Given the description of an element on the screen output the (x, y) to click on. 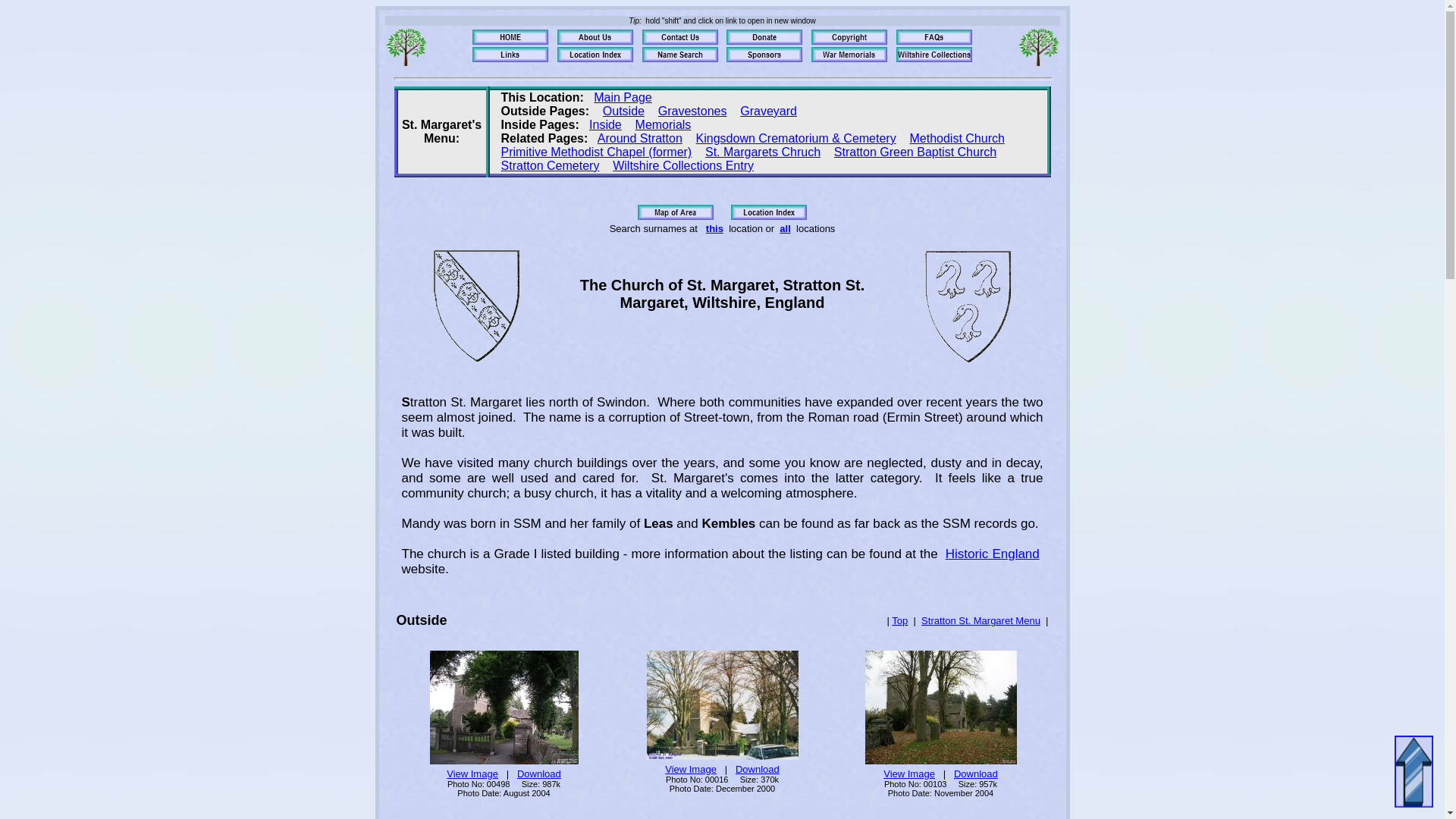
Outside (623, 110)
Search names for all locations (679, 54)
all (784, 228)
Go to page for Gravestones (692, 110)
Thank you to our sponsors (764, 54)
Go to page for Outside (623, 110)
Main index of all locations photographed (595, 54)
Inside (605, 124)
this (714, 228)
Wiltshire Collections Entry (683, 164)
Information about us for nosey people! (595, 37)
Go to page for Graveyard (767, 110)
Contact Us (679, 37)
